Given the description of an element on the screen output the (x, y) to click on. 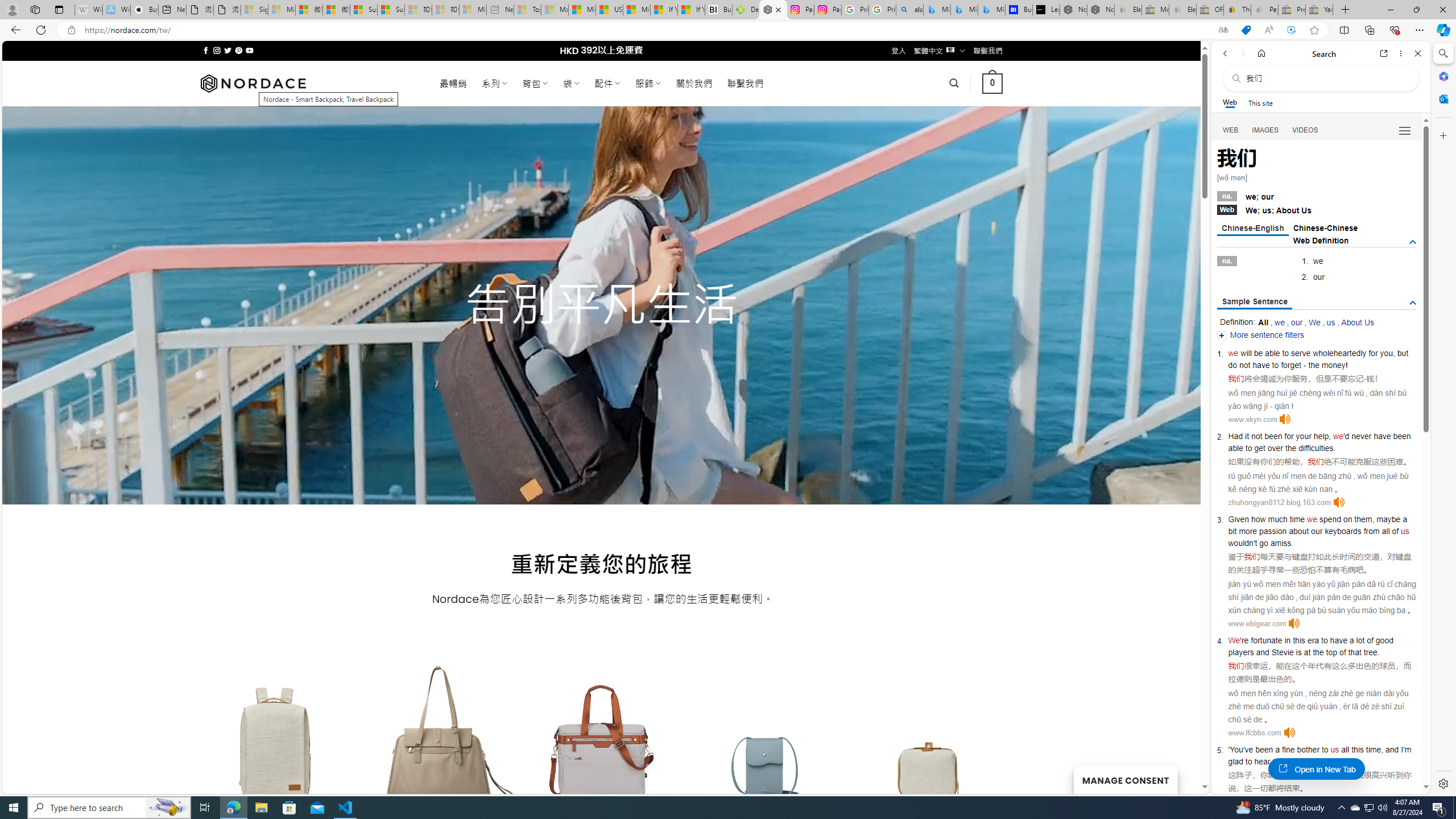
will (1246, 352)
spend (1329, 519)
this (1357, 749)
Follow on Pinterest (237, 50)
never (1361, 435)
